Given the description of an element on the screen output the (x, y) to click on. 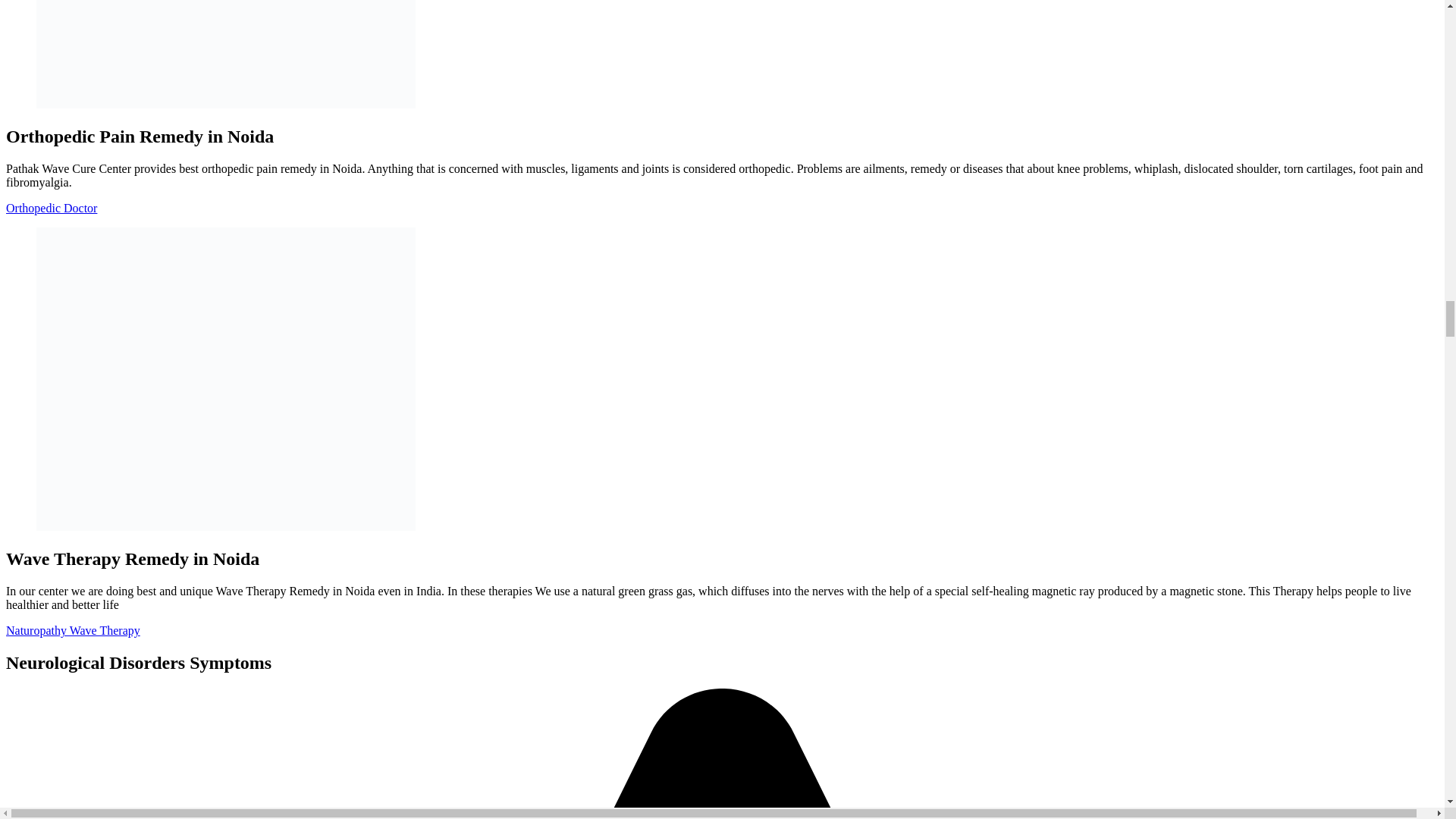
Naturopathy Wave Therapy (72, 630)
Orthopedic Doctor (51, 207)
